Given the description of an element on the screen output the (x, y) to click on. 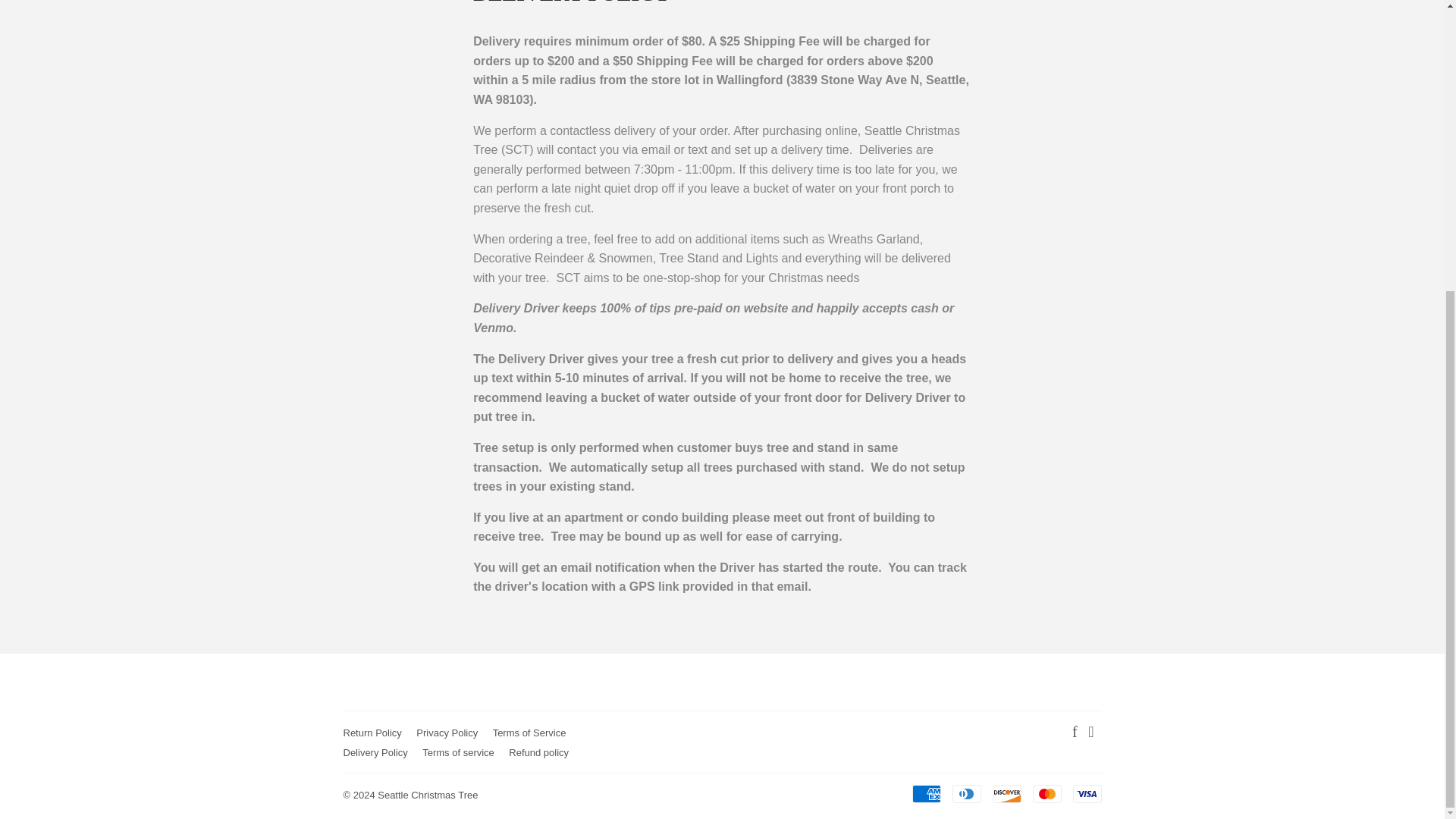
Refund policy (538, 752)
Privacy Policy (446, 732)
Discover (1005, 793)
Instagram (1090, 732)
Seattle Christmas Tree on Facebook (1074, 732)
American Express (925, 793)
Facebook (1074, 732)
Visa (1085, 793)
Terms of Service (529, 732)
Seattle Christmas Tree (427, 794)
Terms of service (458, 752)
Diners Club (966, 793)
Return Policy (371, 732)
Delivery Policy (374, 752)
Seattle Christmas Tree on Instagram (1090, 732)
